Given the description of an element on the screen output the (x, y) to click on. 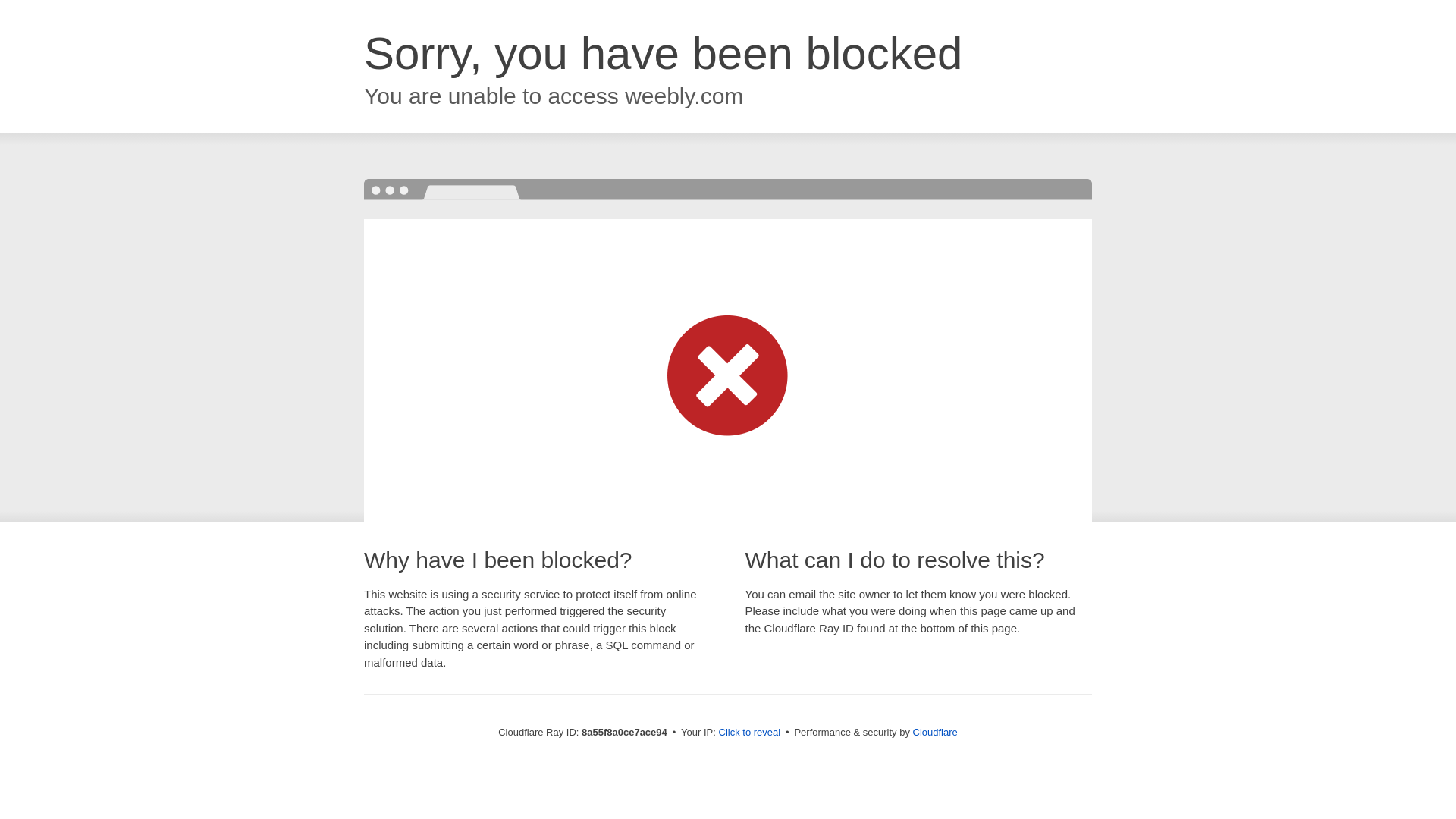
Click to reveal (749, 732)
Cloudflare (935, 731)
